Given the description of an element on the screen output the (x, y) to click on. 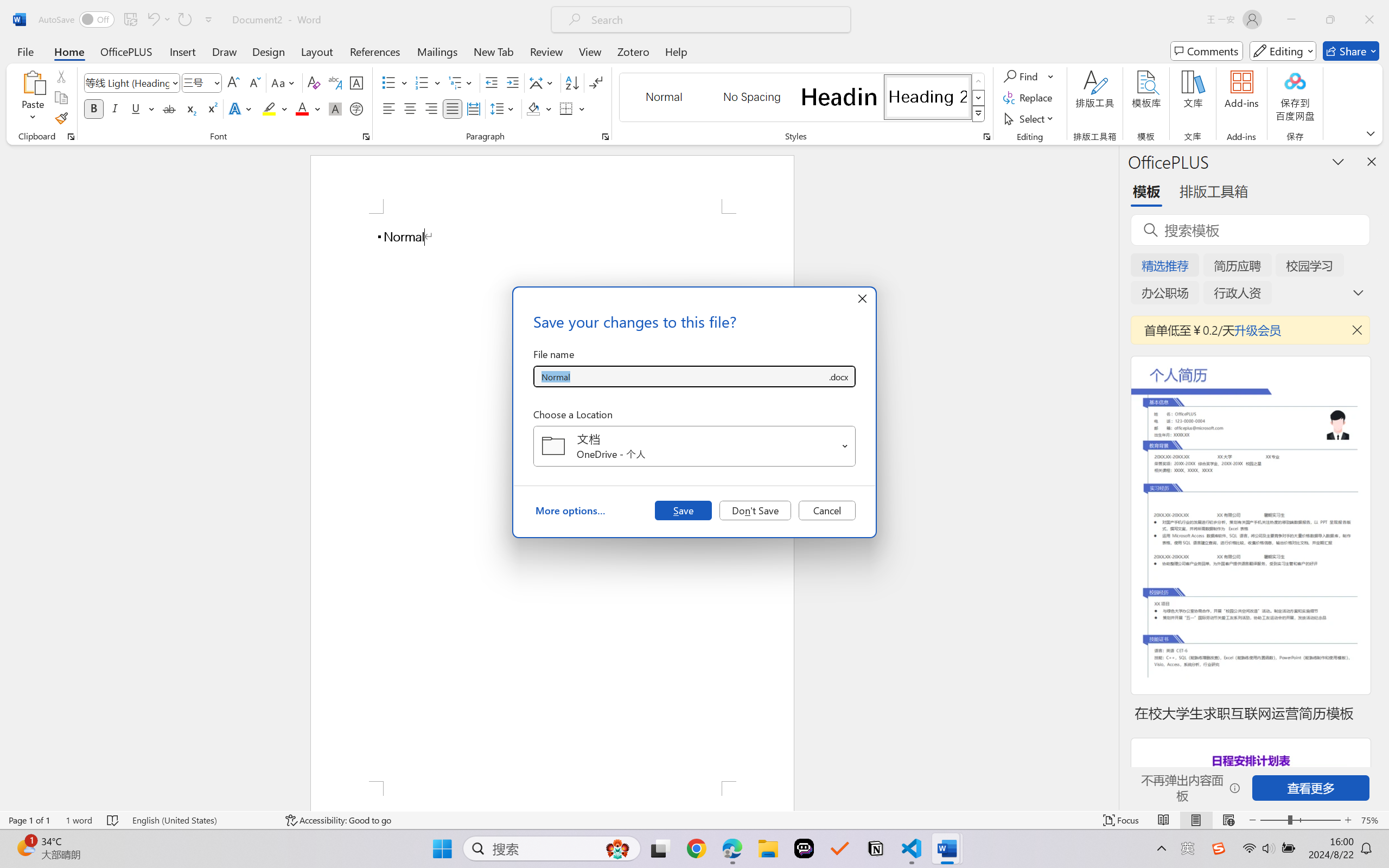
Select (1030, 118)
Share (1350, 51)
Text Effects and Typography (241, 108)
Copy (60, 97)
Don't Save (755, 509)
AutomationID: QuickStylesGallery (802, 97)
References (375, 51)
Find (1029, 75)
Repeat Typing (184, 19)
Multilevel List (461, 82)
Web Layout (1228, 819)
